Given the description of an element on the screen output the (x, y) to click on. 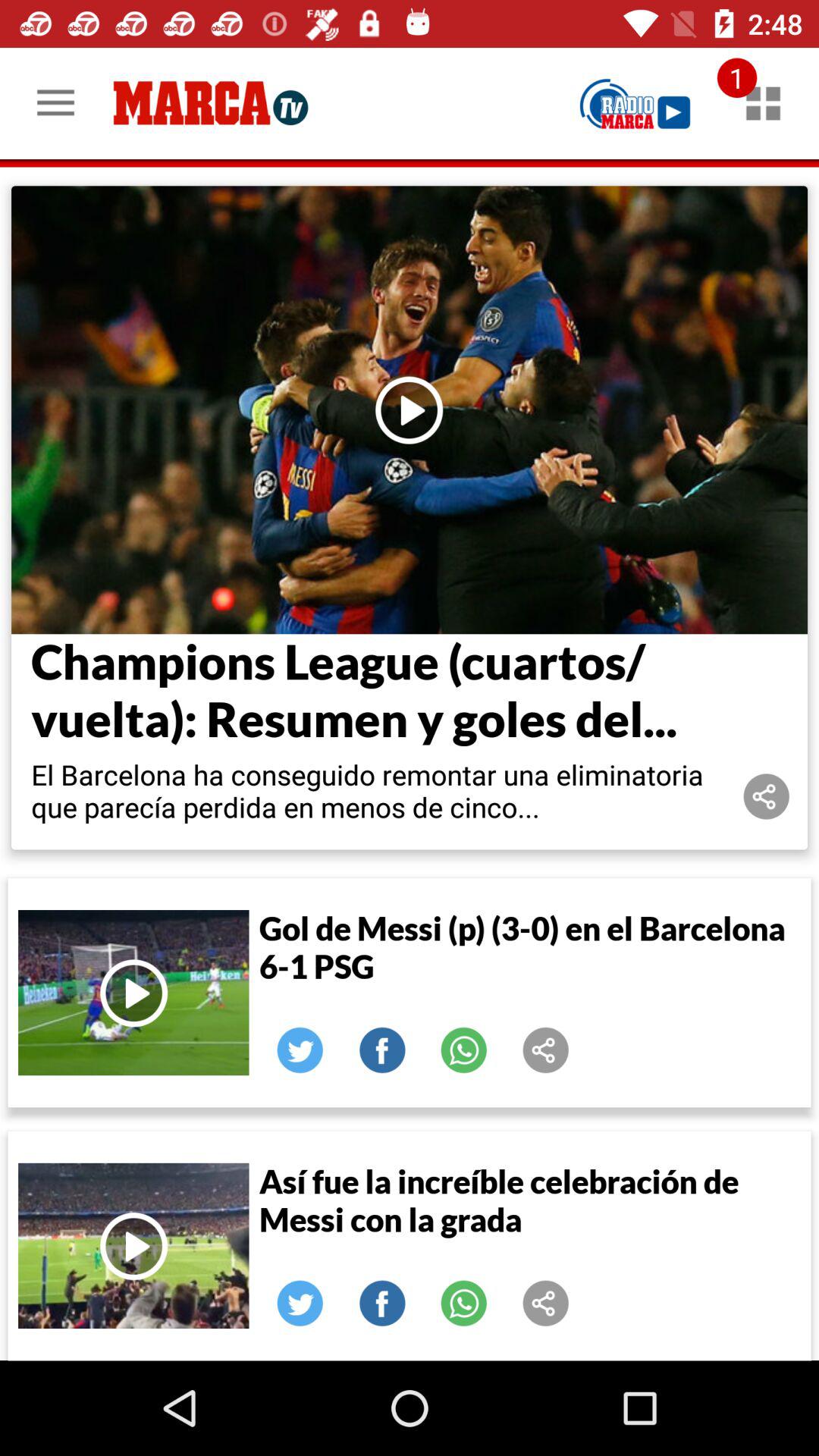
call (464, 1050)
